Given the description of an element on the screen output the (x, y) to click on. 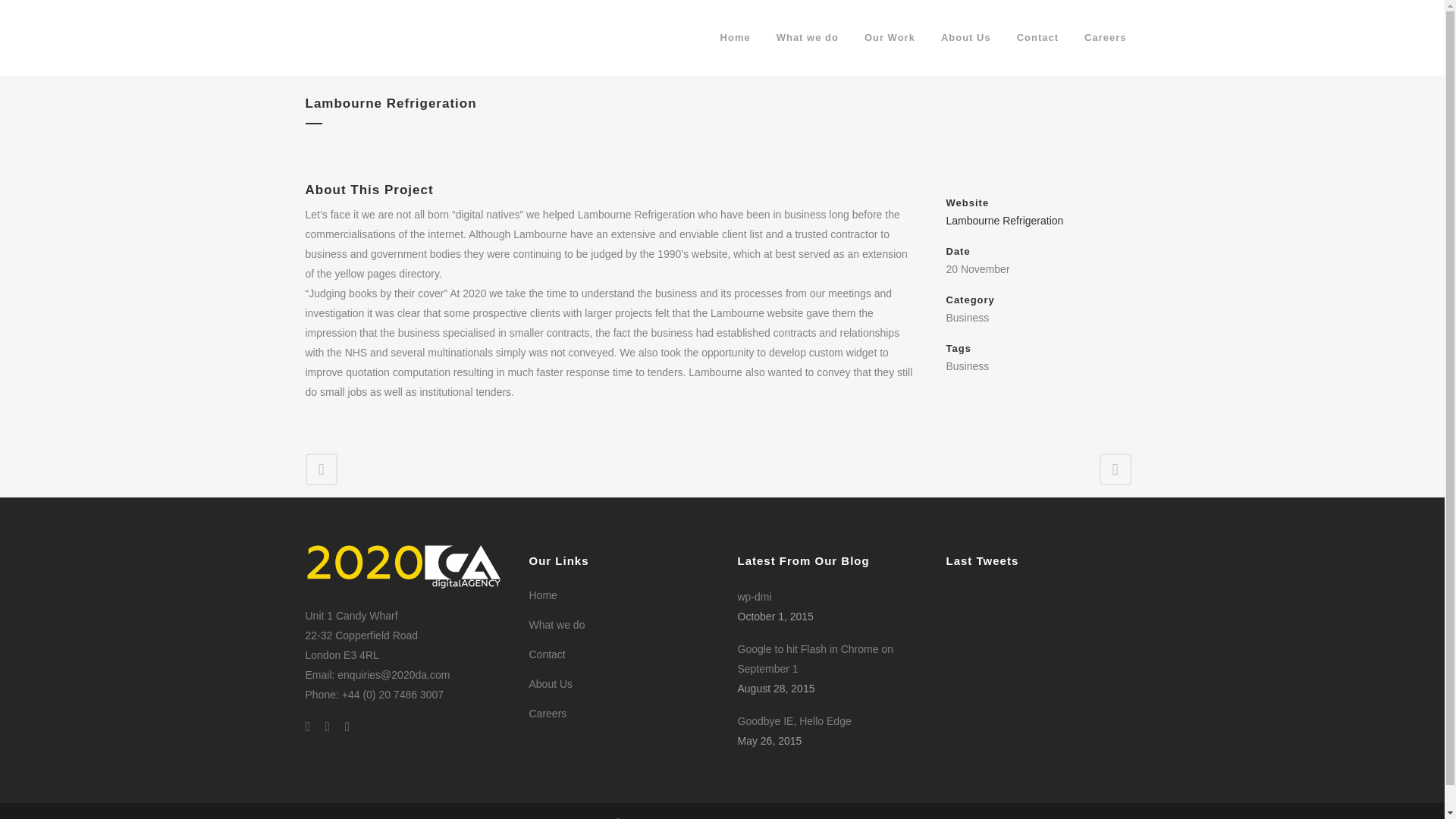
What we do (806, 38)
About Us (966, 38)
Home (621, 595)
Our Work (889, 38)
Lambourne Refrigeration (1005, 220)
Careers (621, 713)
Goodbye IE, Hello Edge (831, 721)
About Us (621, 683)
Careers (1104, 38)
Google to hit Flash in Chrome on September 1 (831, 658)
wp-dmi (831, 596)
What we do (621, 624)
Contact (621, 654)
Contact (1037, 38)
